Given the description of an element on the screen output the (x, y) to click on. 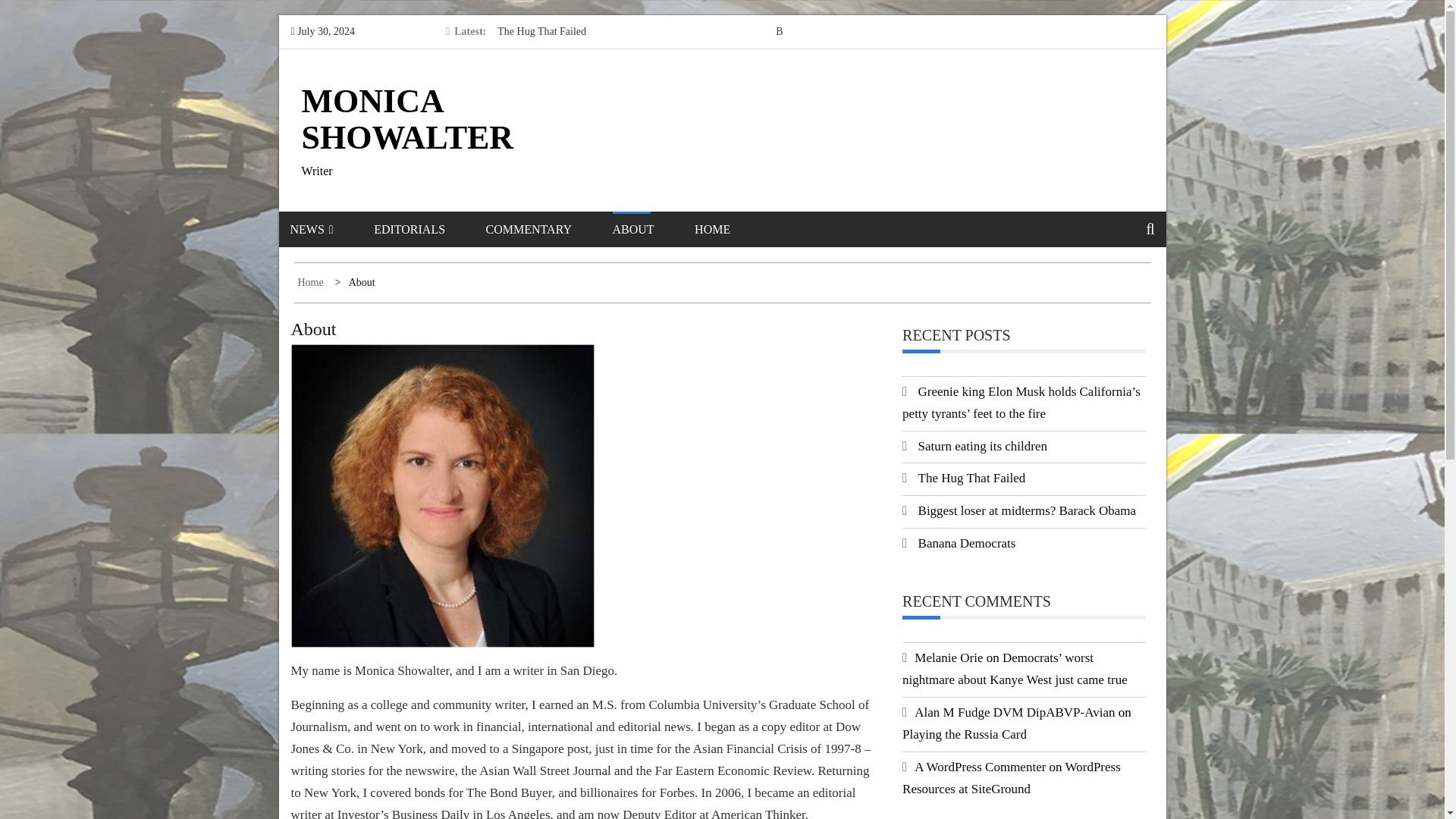
Melanie Orie (948, 657)
NEWS (330, 229)
COMMENTARY (548, 229)
The Hug That Failed (541, 30)
Banana Democrats (967, 543)
ABOUT (652, 229)
HOME (731, 229)
The Hug That Failed (972, 477)
Biggest loser at midterms? Barack Obama (865, 30)
Home (311, 282)
EDITORIALS (428, 229)
Saturn eating its children (982, 445)
MONICA SHOWALTER (407, 119)
Biggest loser at midterms? Barack Obama (1027, 510)
